Given the description of an element on the screen output the (x, y) to click on. 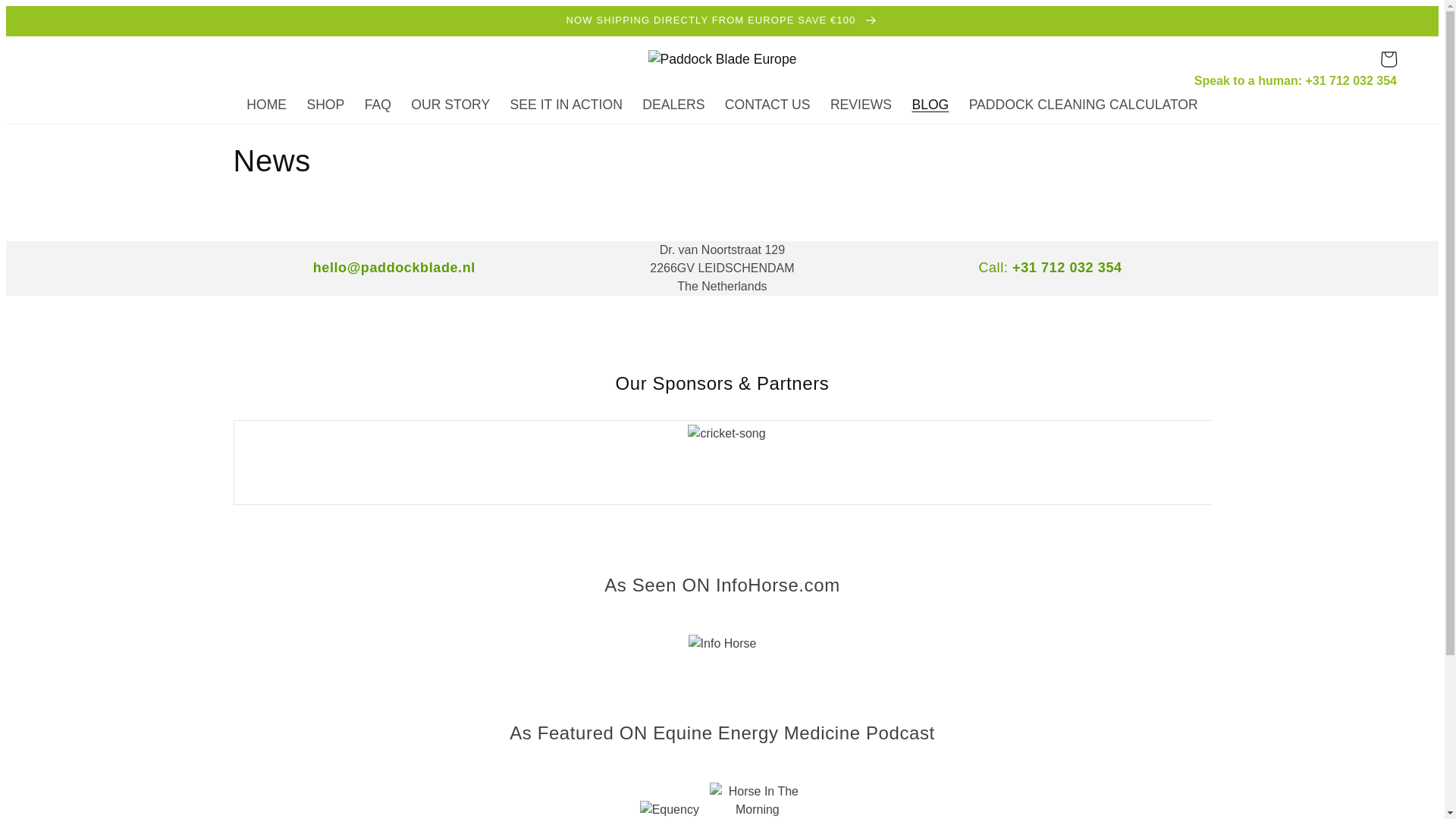
DEALERS (672, 104)
Cart (1388, 58)
SHOP (325, 104)
SEE IT IN ACTION (565, 104)
BLOG (929, 104)
HOME (266, 104)
OUR STORY (450, 104)
REVIEWS (861, 104)
Skip to content (55, 24)
CONTACT US (767, 104)
PADDOCK CLEANING CALCULATOR (1082, 104)
FAQ (377, 104)
